Given the description of an element on the screen output the (x, y) to click on. 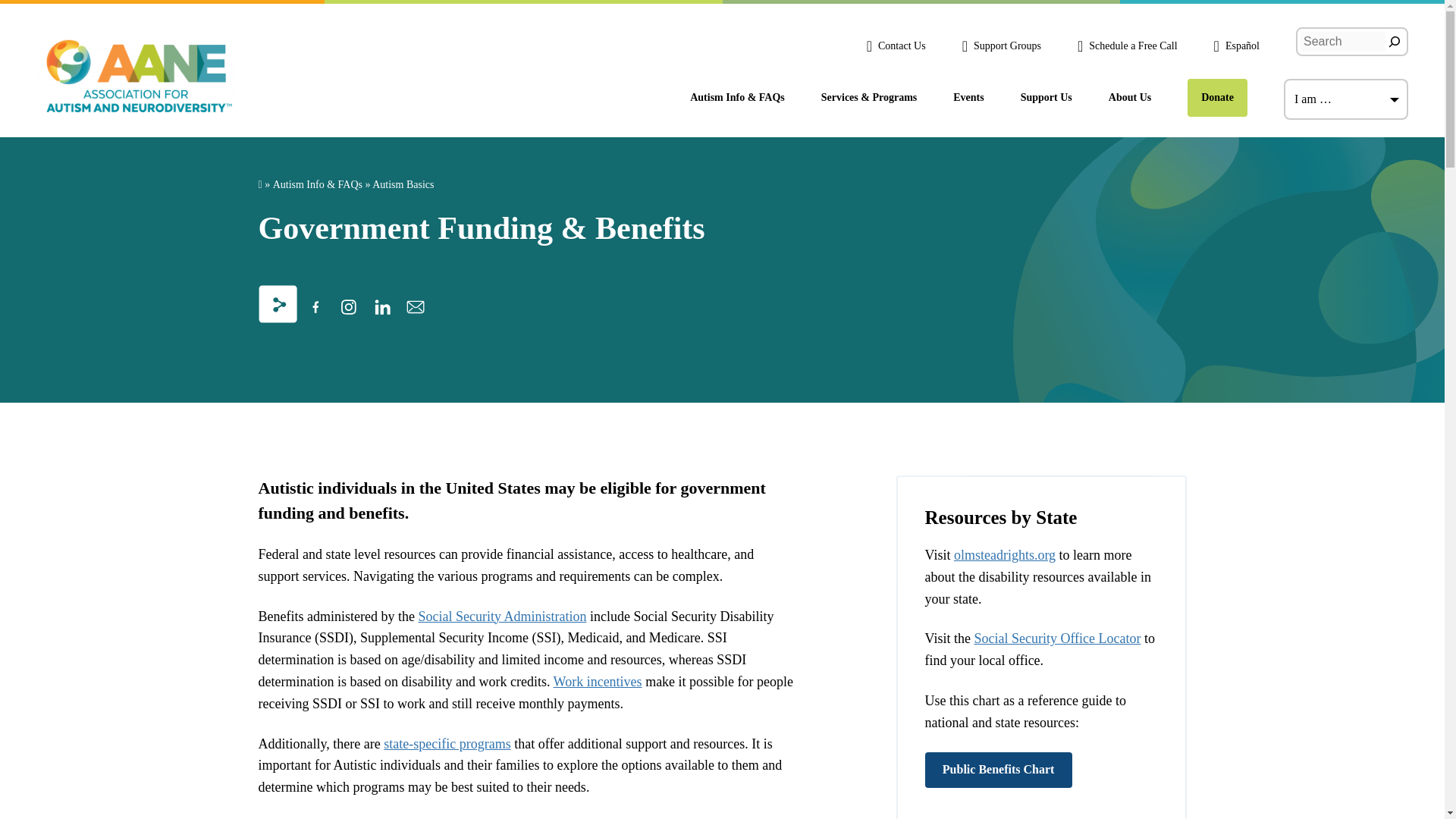
Contact Us (896, 46)
Support Groups (1001, 46)
Schedule a Free Call (1127, 46)
